Given the description of an element on the screen output the (x, y) to click on. 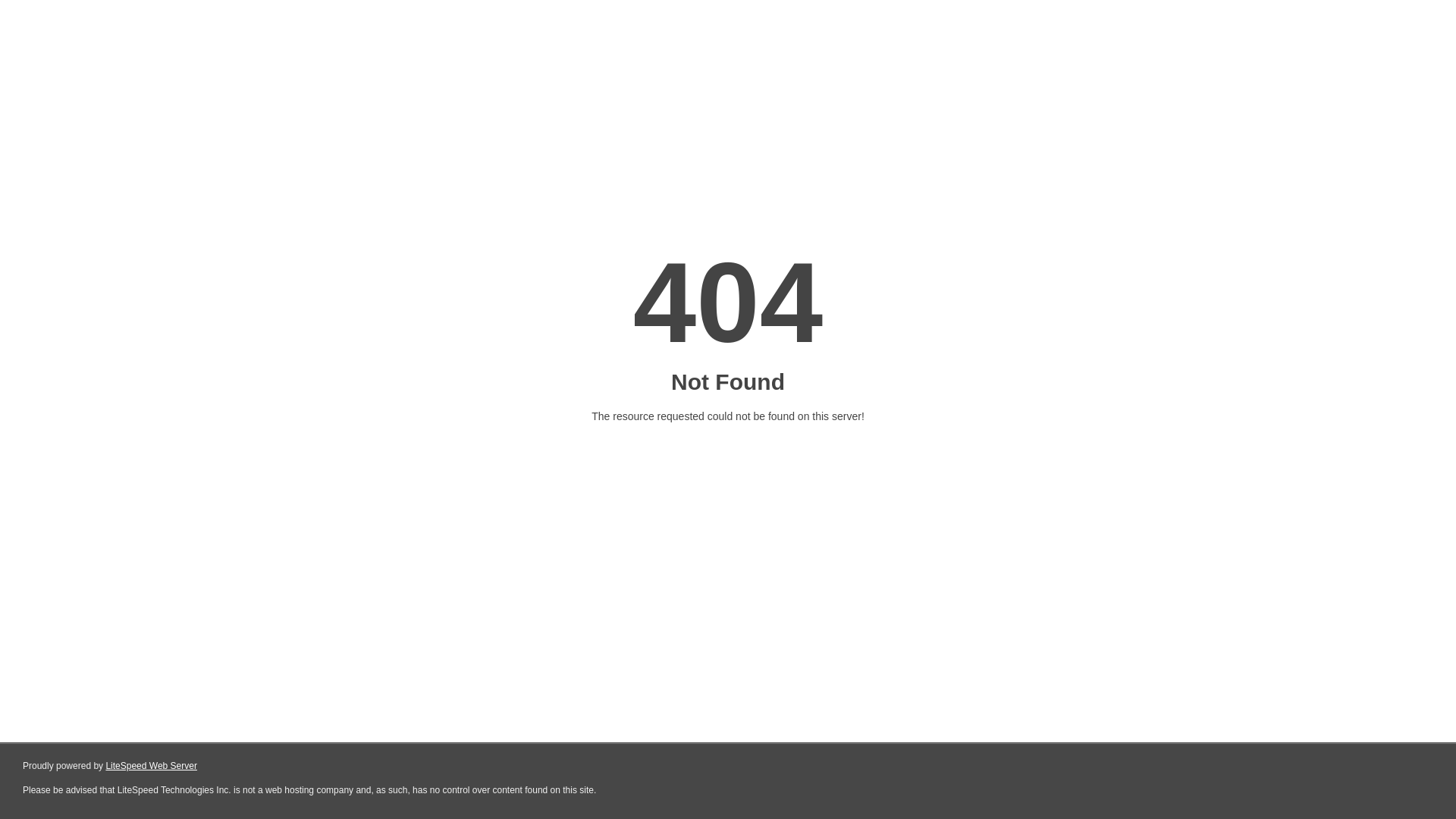
LiteSpeed Web Server Element type: text (151, 765)
